Given the description of an element on the screen output the (x, y) to click on. 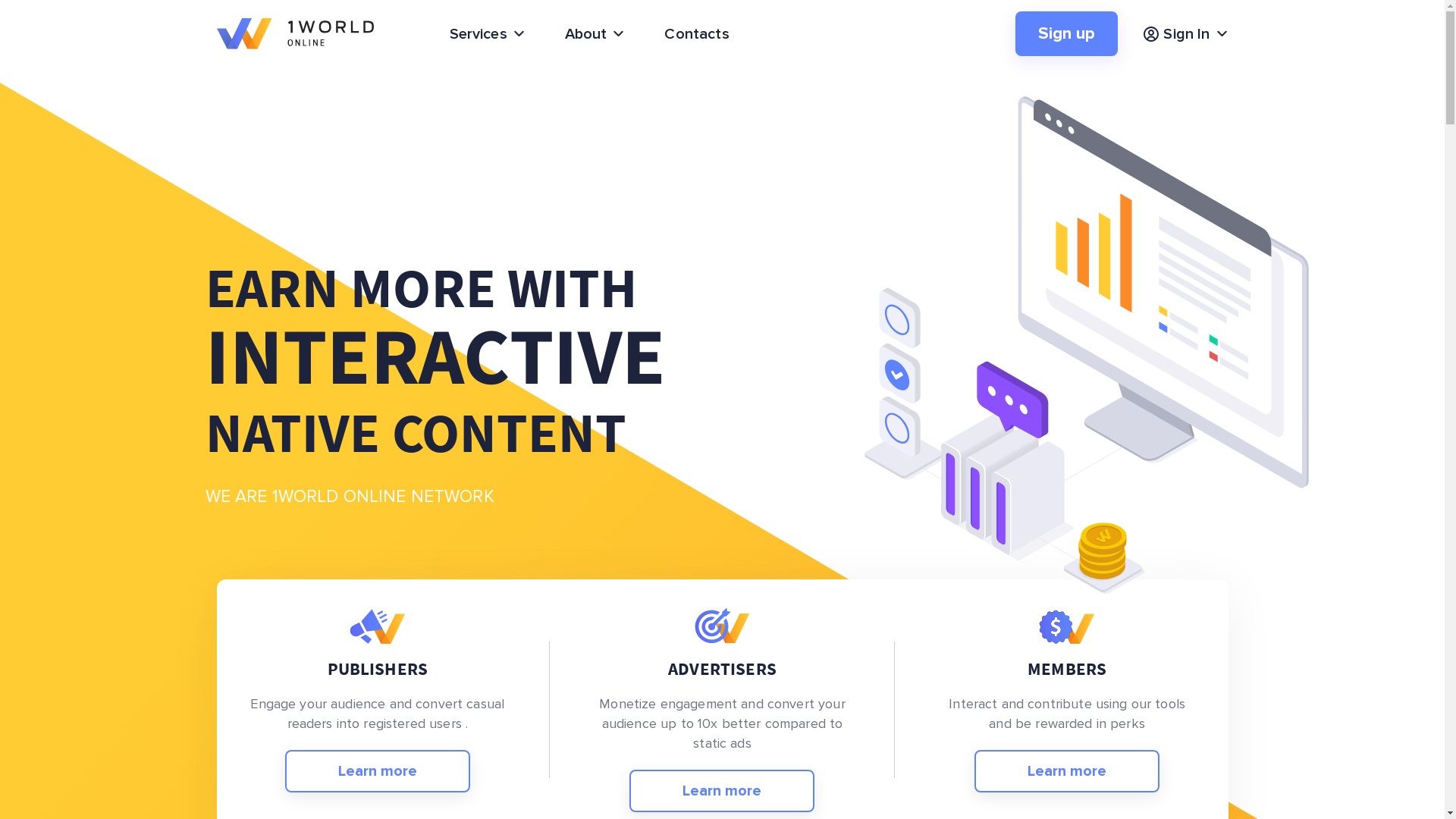
Sign In Element type: text (1184, 33)
Sign up Element type: text (1066, 33)
Contacts Element type: text (696, 33)
Learn more Element type: text (721, 790)
Learn more Element type: text (377, 770)
About Element type: text (594, 33)
Services Element type: text (486, 33)
Learn more Element type: text (1066, 770)
